Given the description of an element on the screen output the (x, y) to click on. 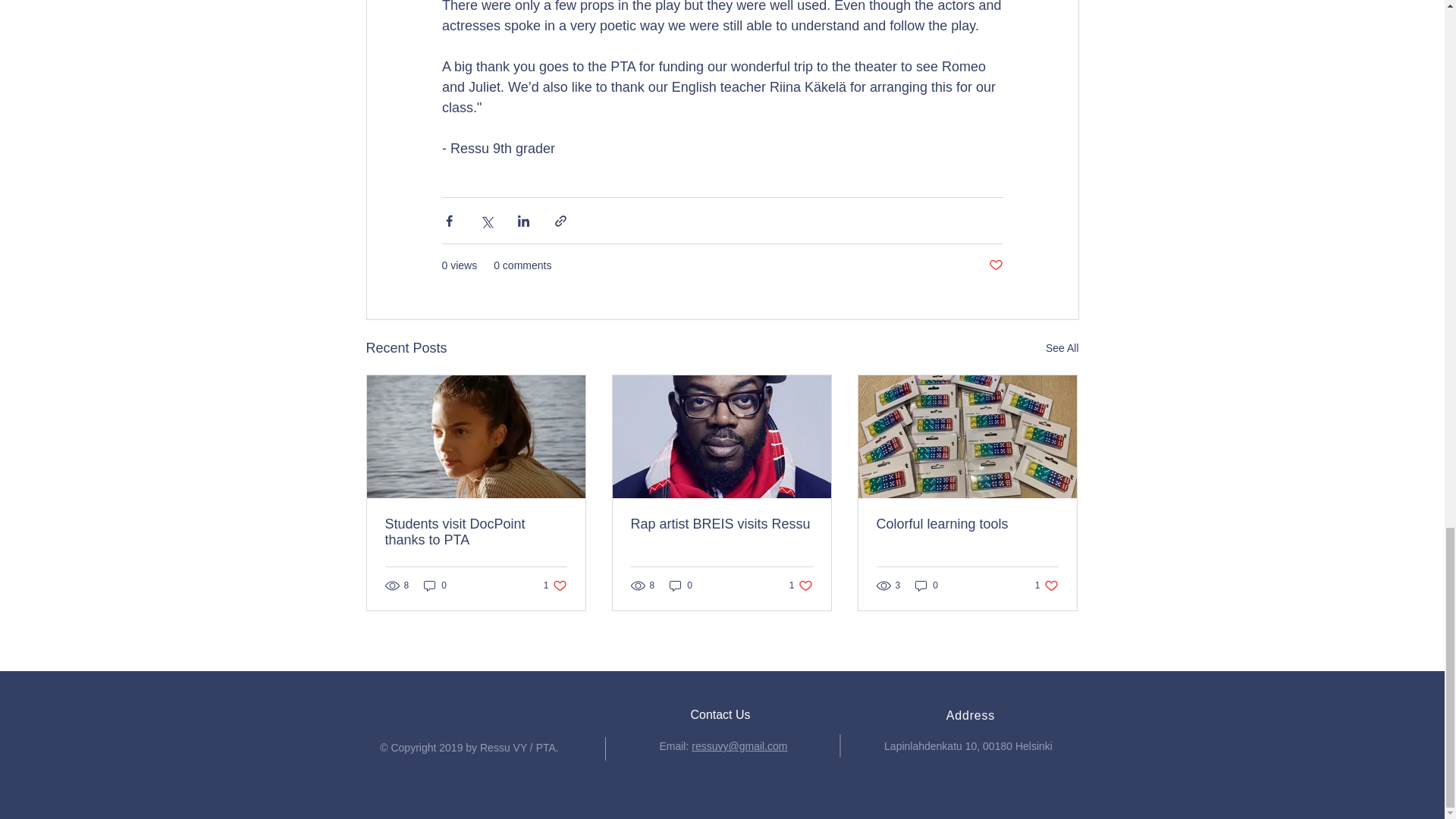
Post not marked as liked (555, 585)
See All (995, 265)
0 (1061, 348)
0 (926, 585)
Colorful learning tools (435, 585)
0 (967, 524)
Students visit DocPoint thanks to PTA (681, 585)
